Given the description of an element on the screen output the (x, y) to click on. 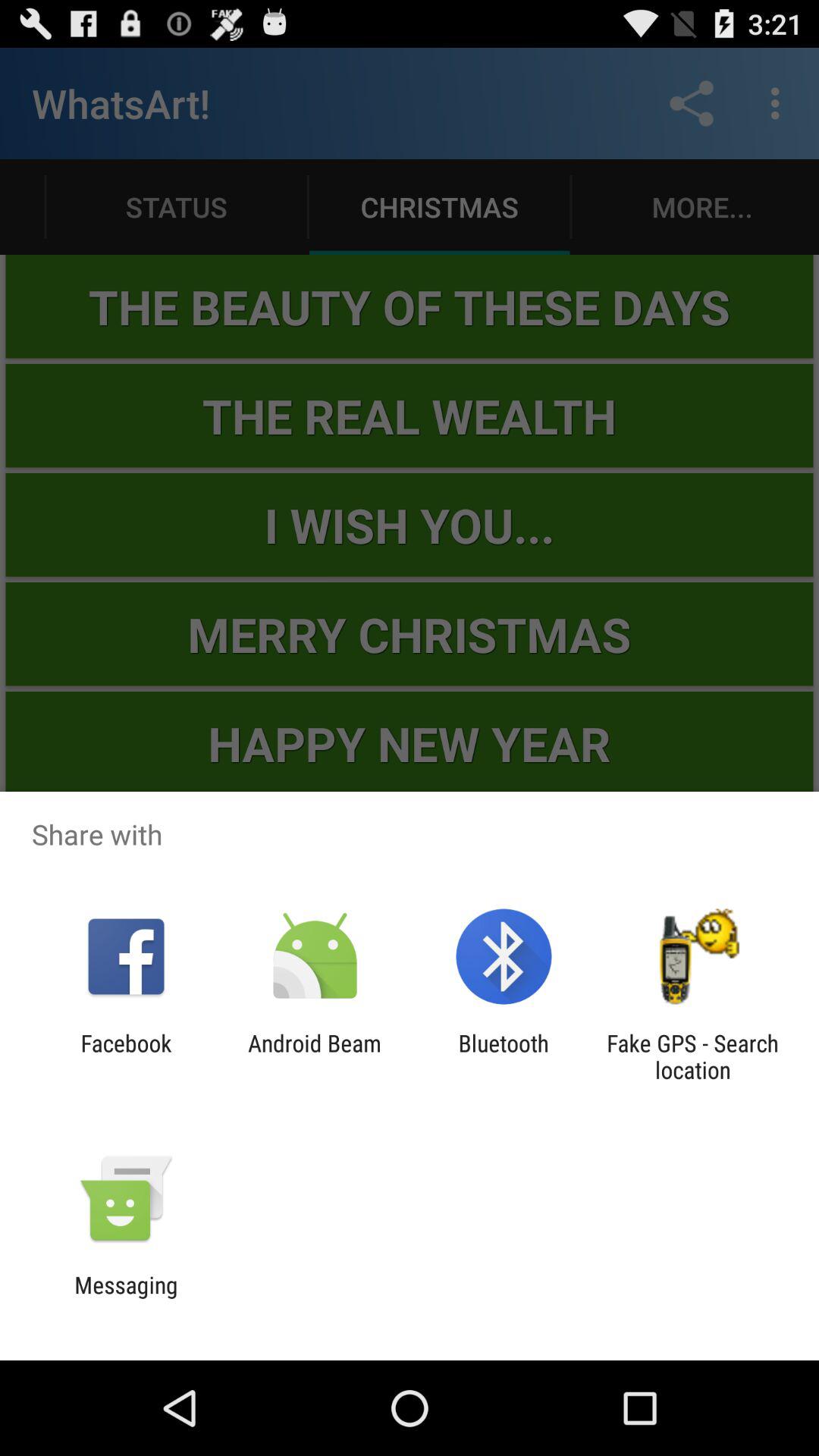
turn on item next to facebook icon (314, 1056)
